Given the description of an element on the screen output the (x, y) to click on. 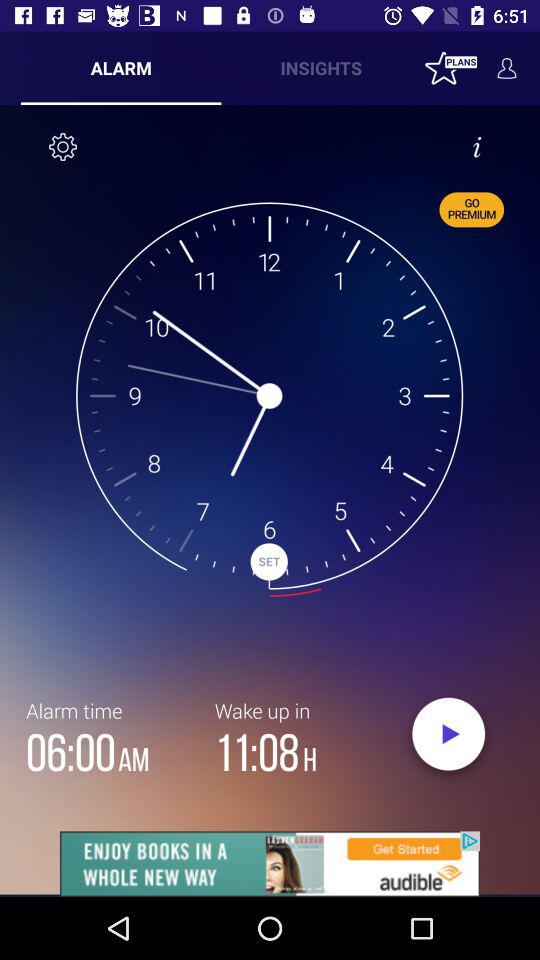
open advertisement (270, 864)
